Given the description of an element on the screen output the (x, y) to click on. 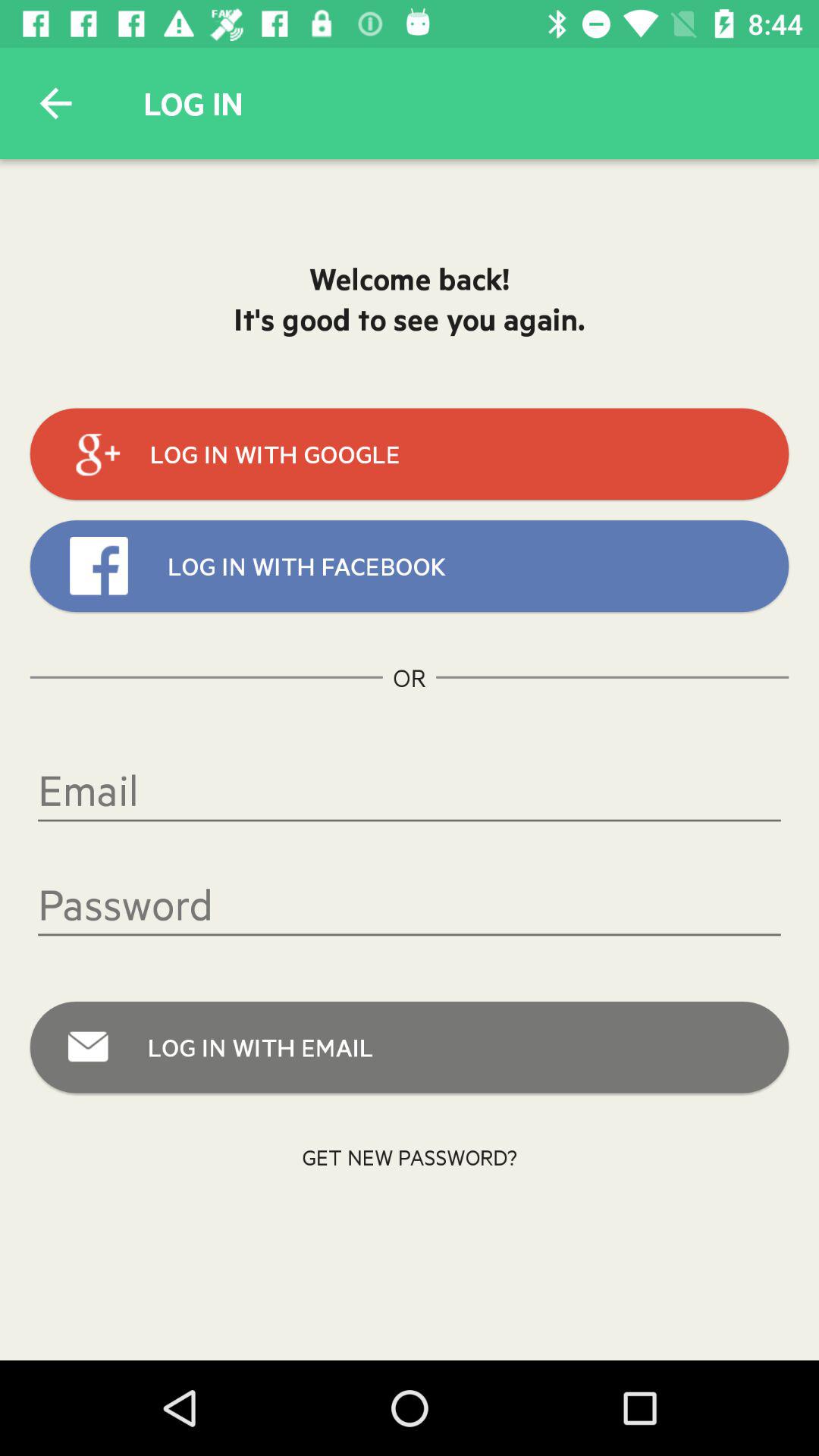
press icon above log in with icon (409, 904)
